Given the description of an element on the screen output the (x, y) to click on. 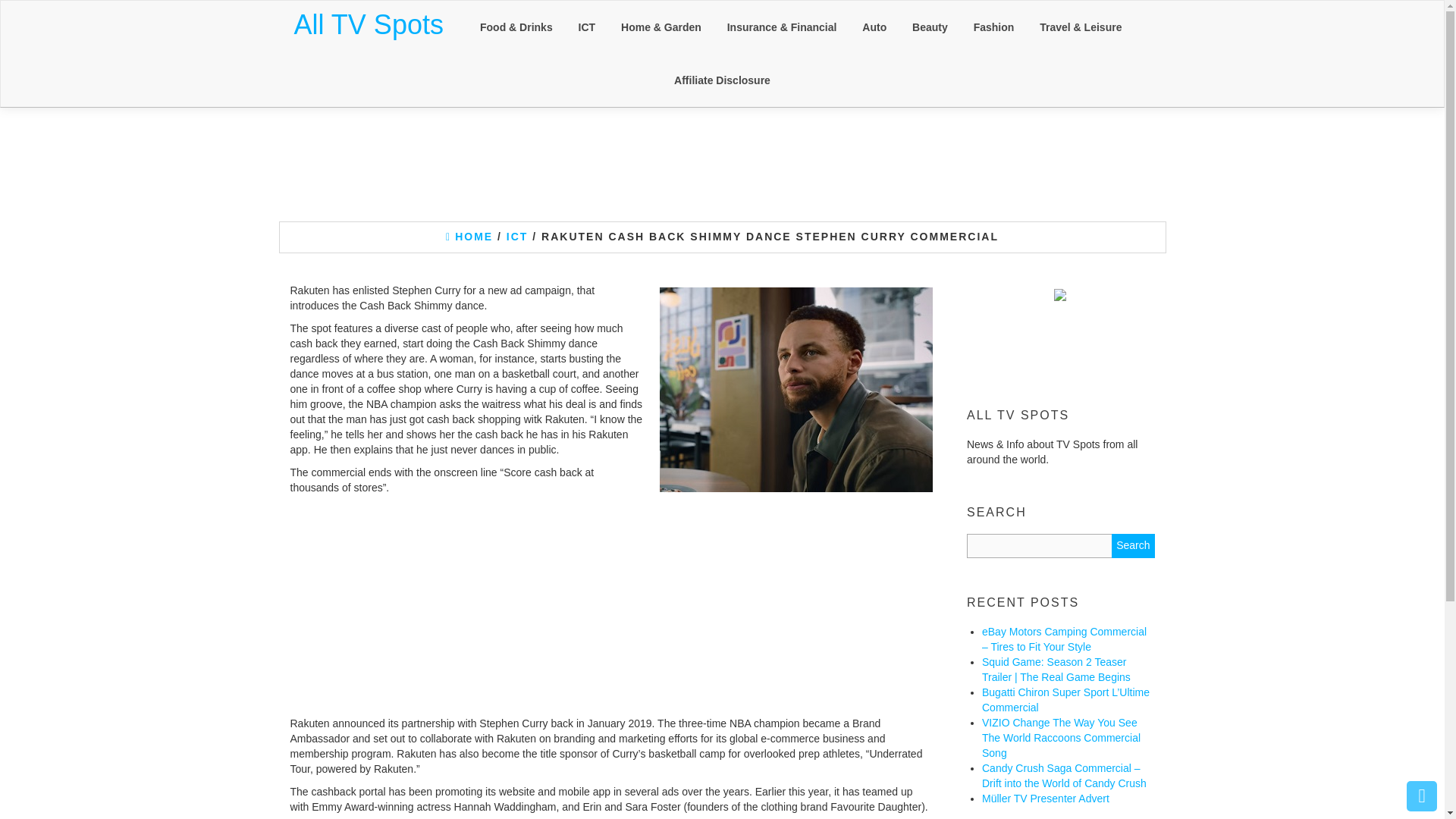
Beauty (930, 27)
Affiliate Disclosure (721, 80)
All TV Spots (369, 24)
Search (1133, 545)
All TV Spots (369, 24)
Fashion (994, 27)
ICT (517, 236)
HOME (469, 236)
Search (1133, 545)
